Given the description of an element on the screen output the (x, y) to click on. 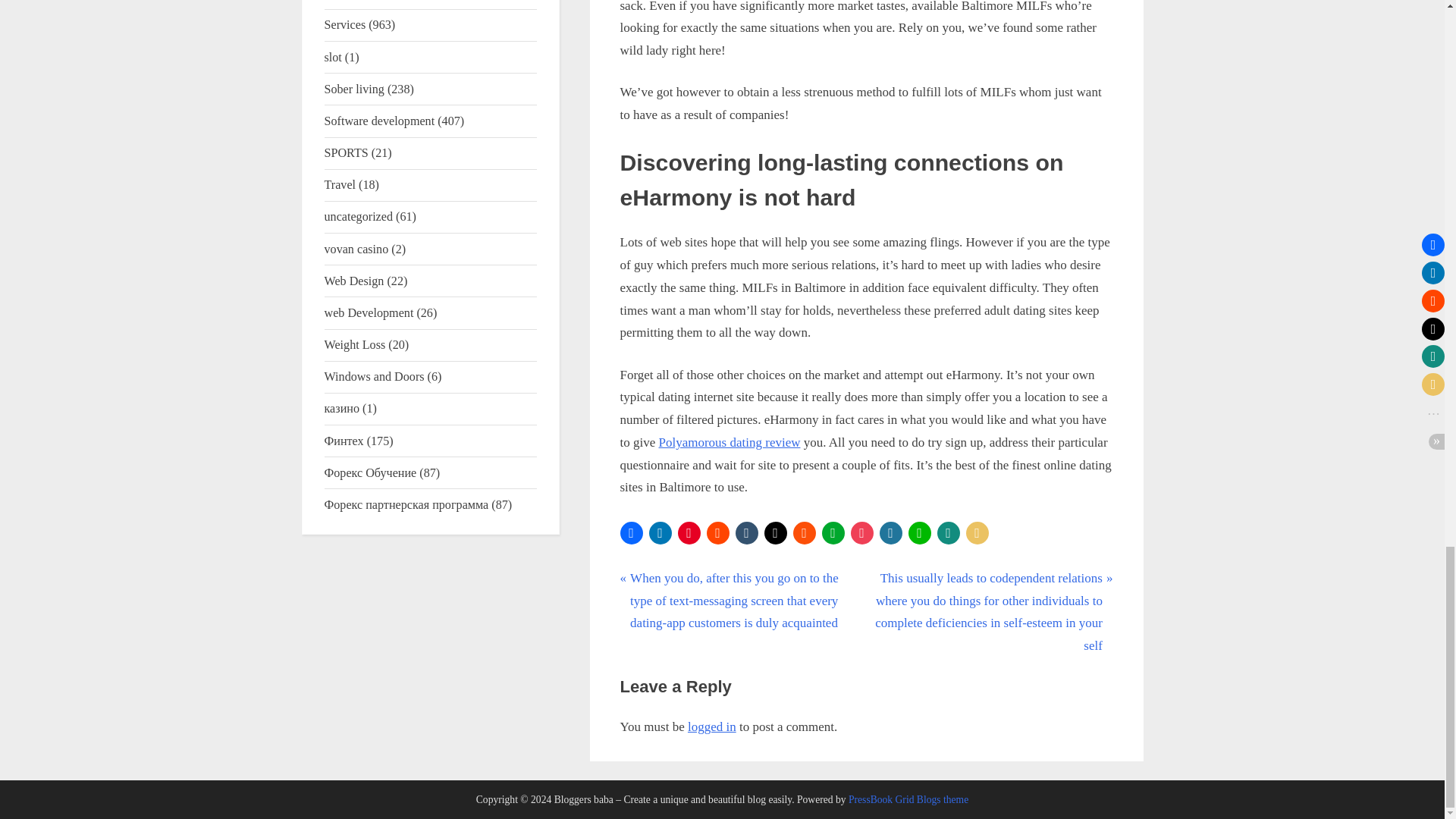
logged in (711, 726)
Polyamorous dating review (728, 441)
